Given the description of an element on the screen output the (x, y) to click on. 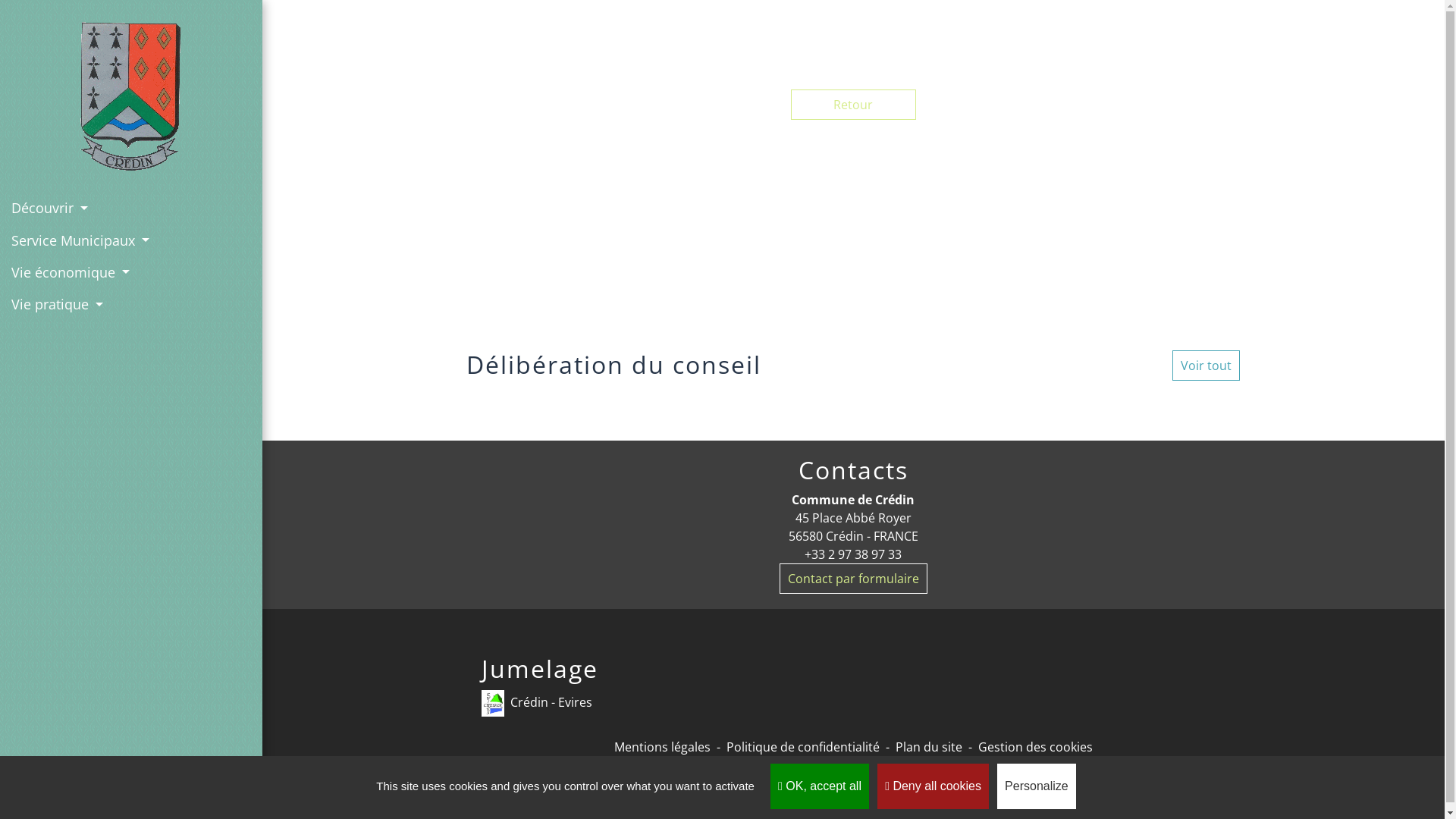
Service Municipaux Element type: text (131, 240)
Personalize Element type: text (1036, 786)
+33 2 97 38 97 33 Element type: text (853, 554)
Voir tout Element type: text (1205, 365)
Deny all cookies Element type: text (932, 786)
Vie pratique Element type: text (131, 304)
Contacts Element type: text (853, 469)
Retour Element type: text (853, 104)
Contact par formulaire Element type: text (853, 578)
Plan du site Element type: text (928, 746)
OK, accept all Element type: text (819, 786)
Gestion des cookies Element type: text (1035, 746)
